Given the description of an element on the screen output the (x, y) to click on. 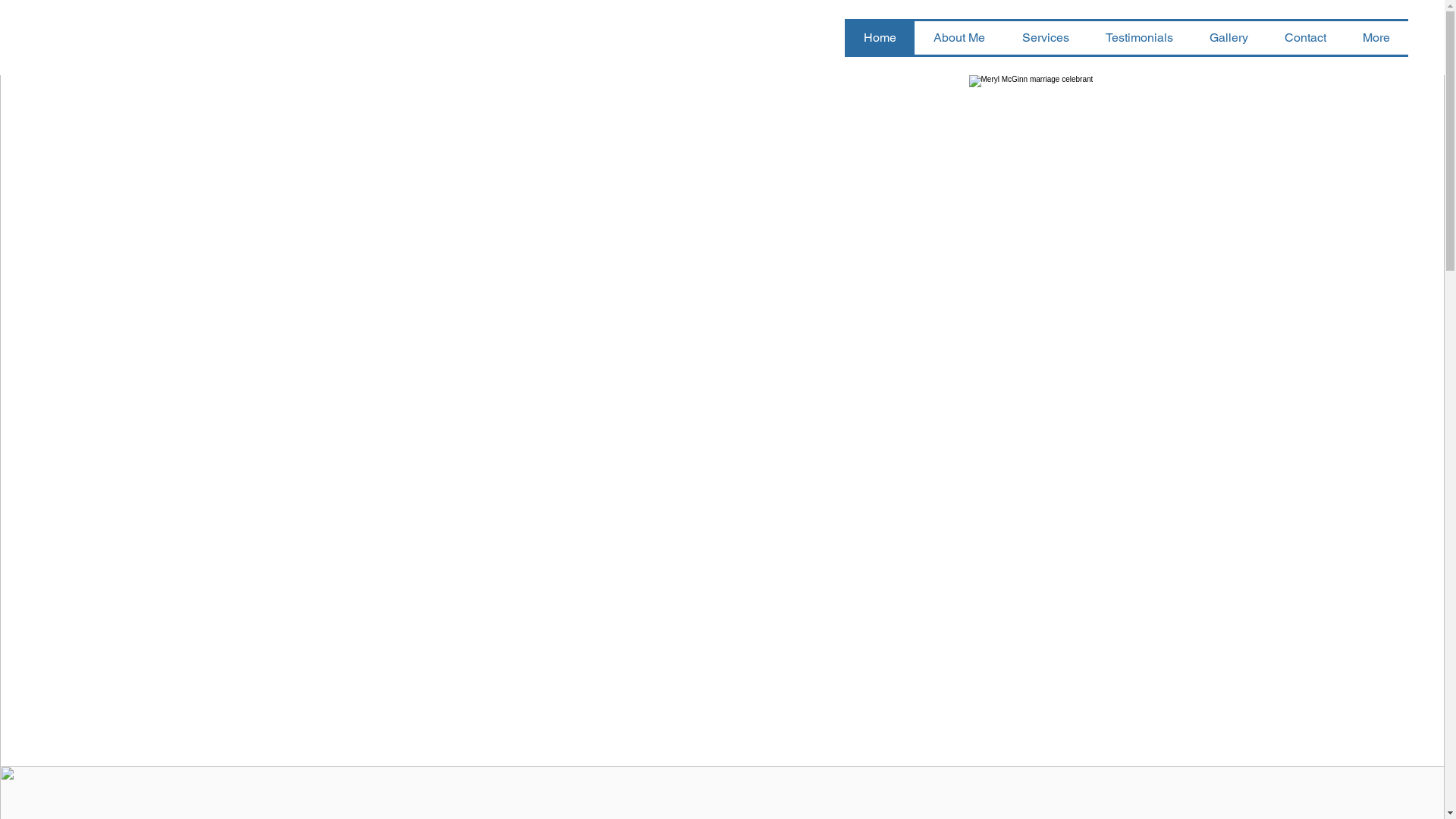
Testimonials Element type: text (1139, 37)
Services Element type: text (1045, 37)
Home Element type: text (879, 37)
Contact Element type: text (1305, 37)
About Me Element type: text (958, 37)
Gallery Element type: text (1228, 37)
More Element type: text (1376, 37)
